Given the description of an element on the screen output the (x, y) to click on. 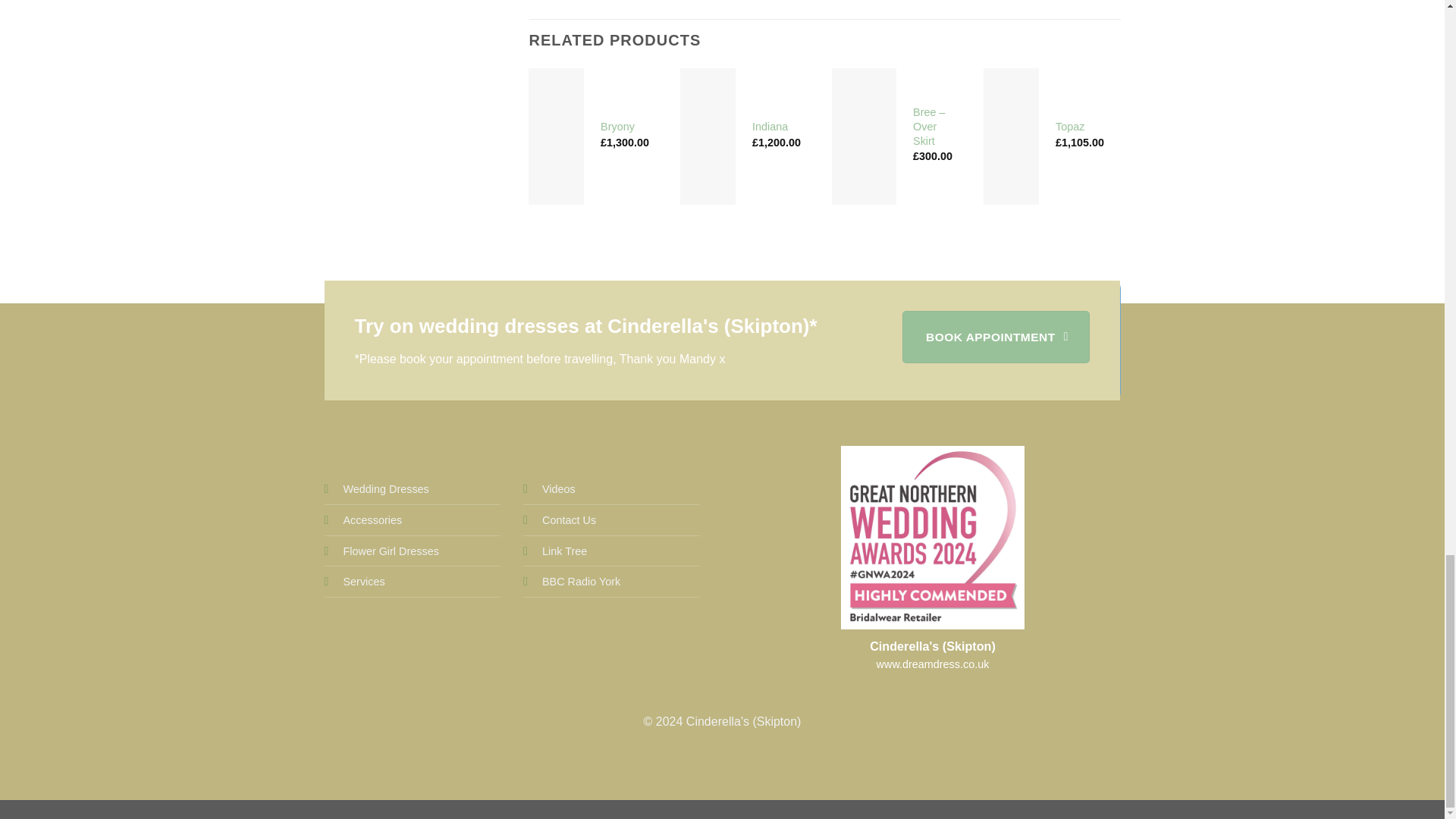
Blythe (1222, 126)
Bryony (616, 126)
Leona (1382, 126)
Indiana (769, 126)
Topaz (1069, 126)
